Given the description of an element on the screen output the (x, y) to click on. 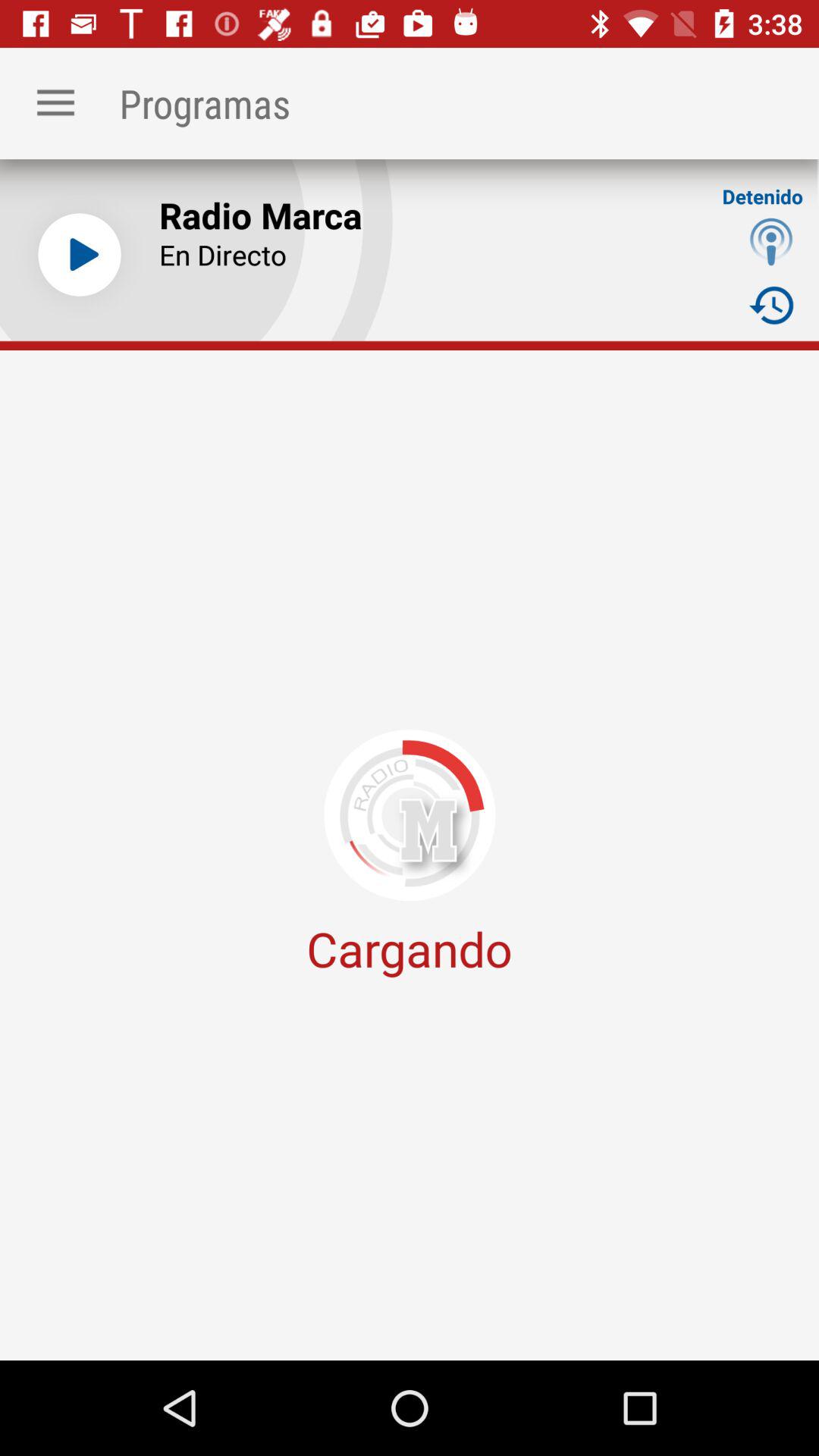
turn off the icon next to the radio marca item (79, 254)
